Given the description of an element on the screen output the (x, y) to click on. 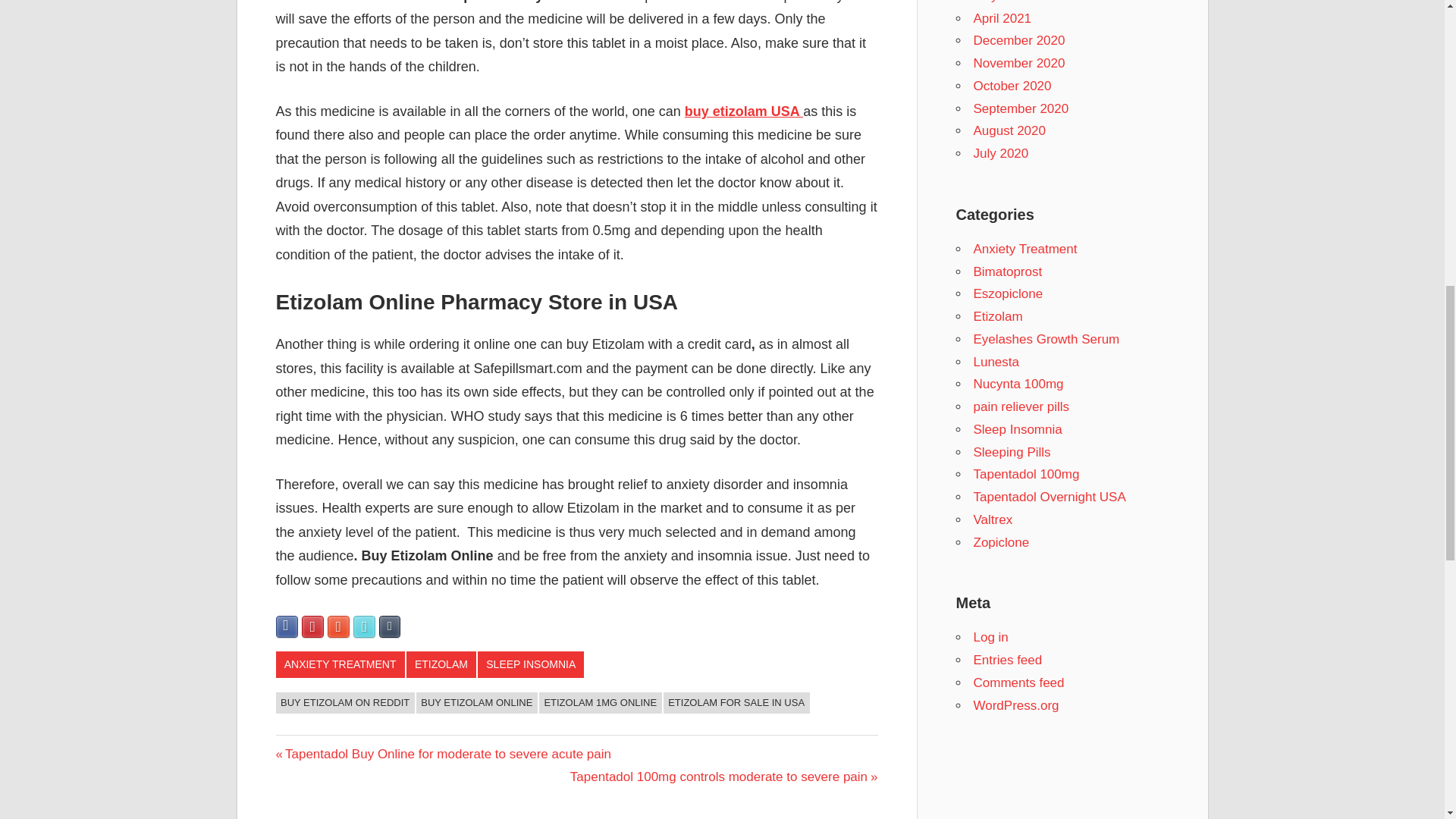
ANXIETY TREATMENT (340, 664)
Anxiety Treatment (1025, 248)
BUY ETIZOLAM ONLINE (476, 702)
July 2020 (1001, 153)
ETIZOLAM 1MG ONLINE (600, 702)
ETIZOLAM (441, 664)
SLEEP INSOMNIA (530, 664)
November 2020 (1019, 63)
Share an image of this article on Pinterest (312, 626)
December 2020 (1019, 40)
Share this article on StumbleUpon (338, 626)
April 2021 (1003, 17)
buy etizolam USA (743, 111)
August 2020 (1009, 130)
